Given the description of an element on the screen output the (x, y) to click on. 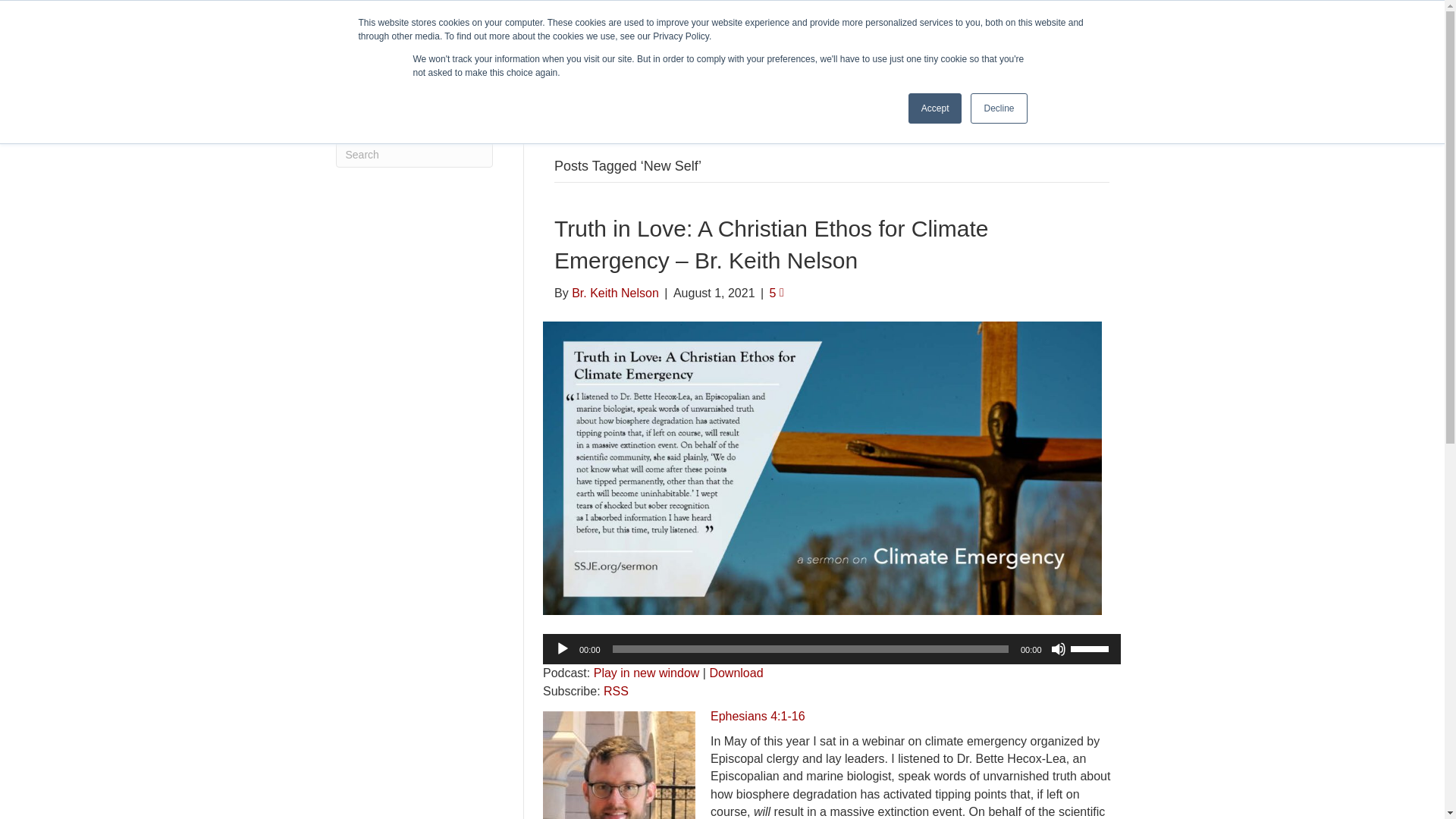
Subscribe (1088, 13)
Accept (935, 108)
Good News (831, 69)
Mute (1058, 648)
Decline (998, 108)
Sermons (969, 13)
Monastic Wisdom (981, 69)
Subscribe via RSS (616, 690)
Play (562, 648)
Daily Word (1028, 13)
Type and press Enter to search. (413, 154)
Livestream (912, 13)
Play in new window (647, 671)
Retreats (899, 69)
Support (1060, 69)
